Given the description of an element on the screen output the (x, y) to click on. 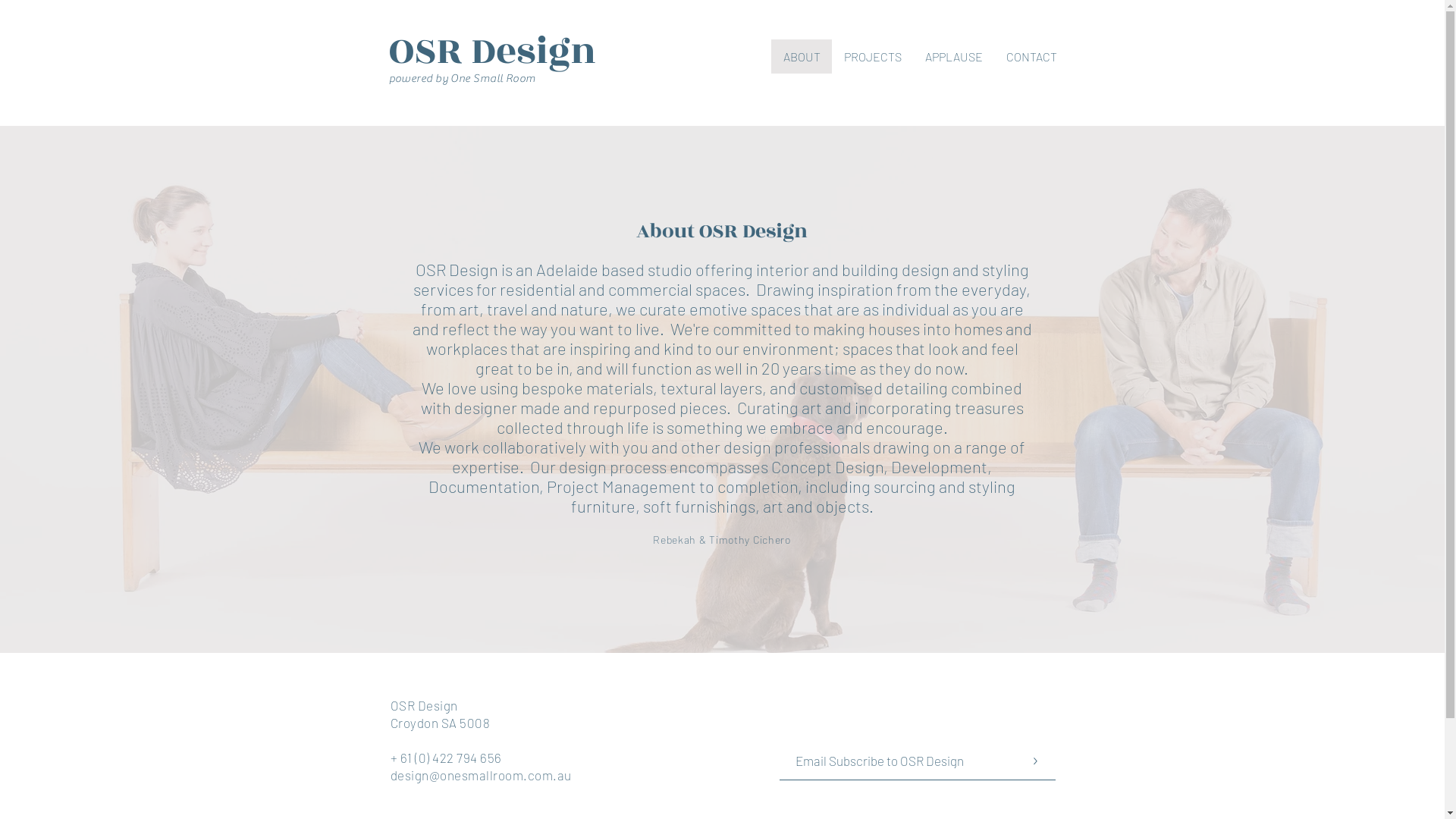
ABOUT Element type: text (800, 56)
powered by One Small Room Element type: text (461, 77)
CONTACT Element type: text (1030, 56)
design@onesmallroom.com.au Element type: text (480, 774)
OSR Design Element type: text (521, 50)
> Element type: text (1034, 761)
APPLAUSE Element type: text (953, 56)
PROJECTS Element type: text (871, 56)
